Given the description of an element on the screen output the (x, y) to click on. 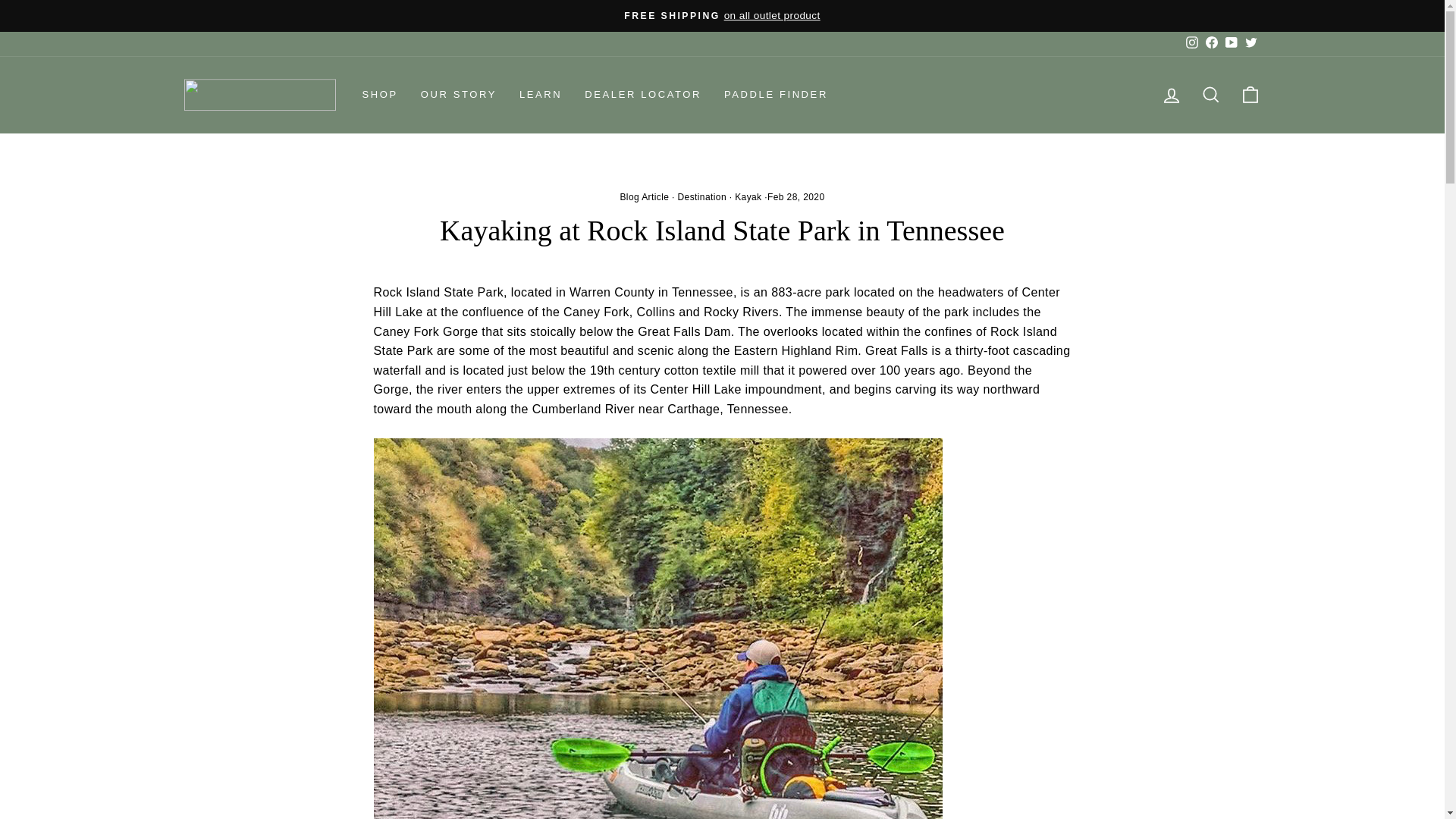
Bending Branches on YouTube (1230, 43)
Bending Branches on Facebook (1211, 43)
twitter (1250, 42)
instagram (1192, 42)
ICON-SEARCH (1210, 94)
FREE SHIPPINGon all outlet product (722, 15)
Bending Branches on Instagram (1190, 43)
Bending Branches on Twitter (1250, 43)
ACCOUNT (1170, 95)
ICON-BAG-MINIMAL (1249, 94)
